Given the description of an element on the screen output the (x, y) to click on. 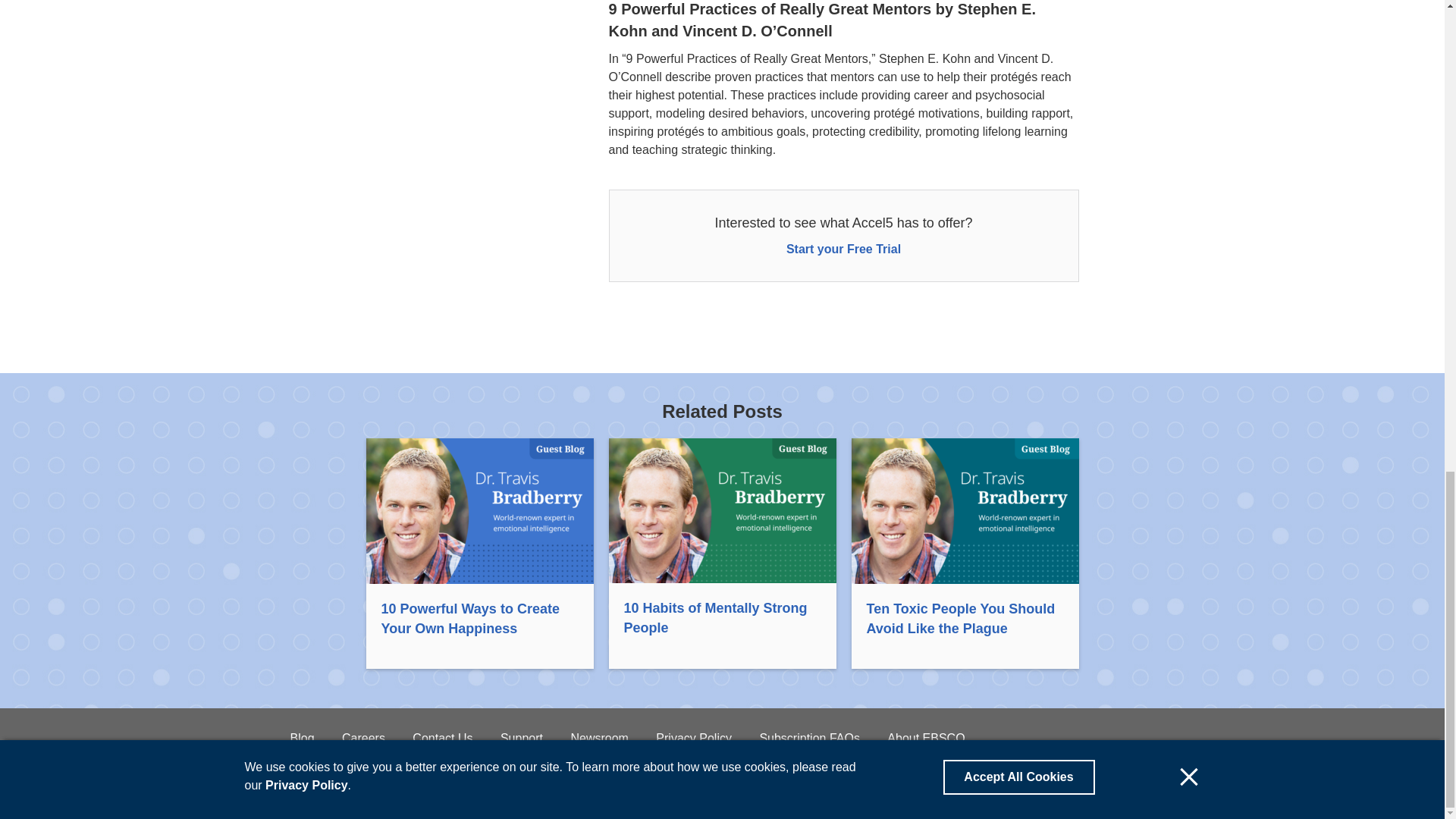
Careers (363, 738)
Start your Free Trial (843, 249)
Privacy Policy (694, 738)
Contact Us (441, 738)
Support (521, 738)
About EBSCO (924, 738)
Blog (301, 738)
Accel5 (305, 787)
Subscription FAQs (809, 738)
Newsroom (598, 738)
